Given the description of an element on the screen output the (x, y) to click on. 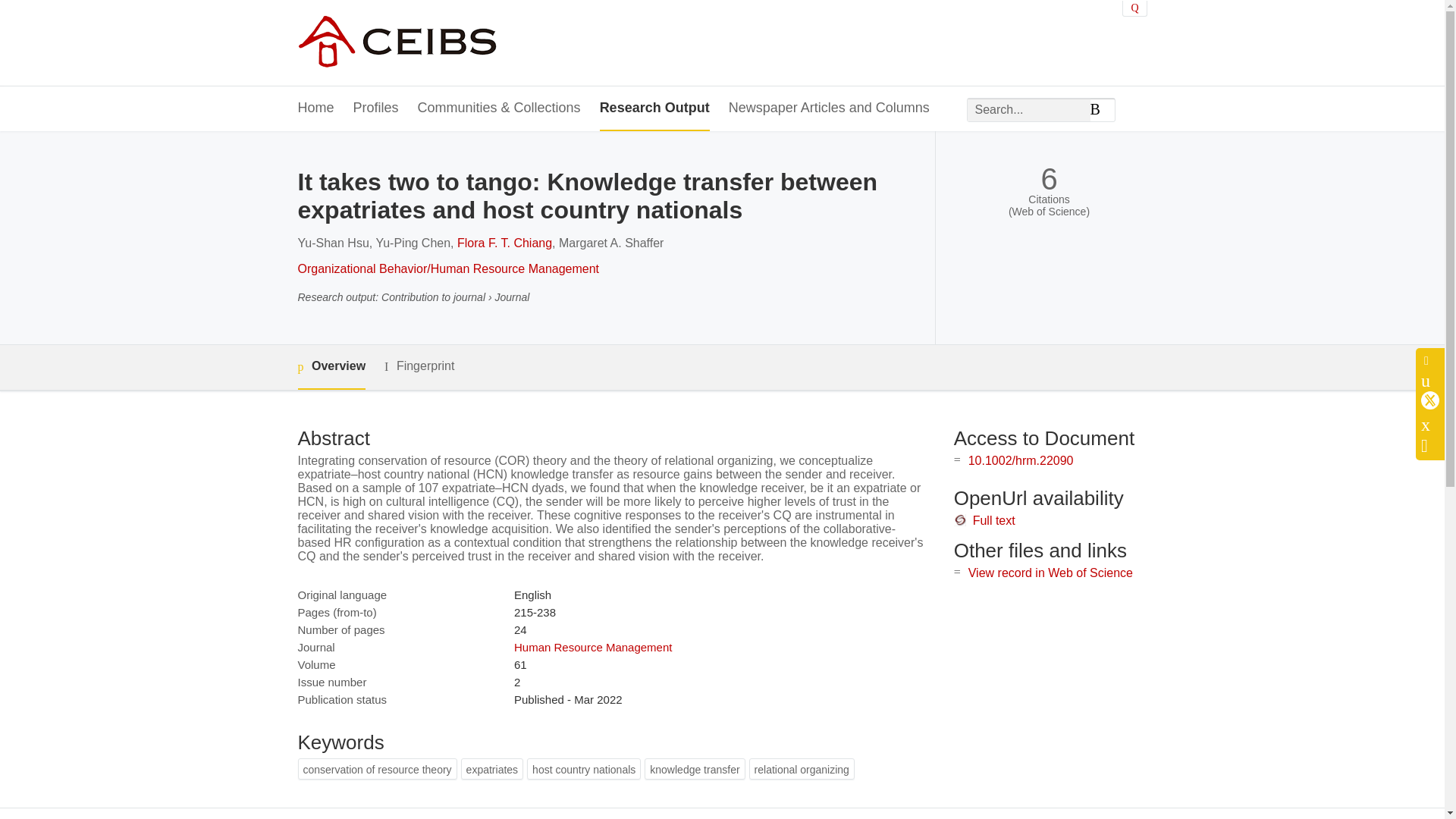
Human Resource Management (592, 646)
View record in Web of Science (1050, 572)
Newspaper Articles and Columns (829, 108)
Full text (993, 520)
Research Output (654, 108)
Fingerprint (419, 366)
Flora F. T. Chiang (504, 242)
Overview (331, 366)
China Europe International Business School Home (396, 43)
